Given the description of an element on the screen output the (x, y) to click on. 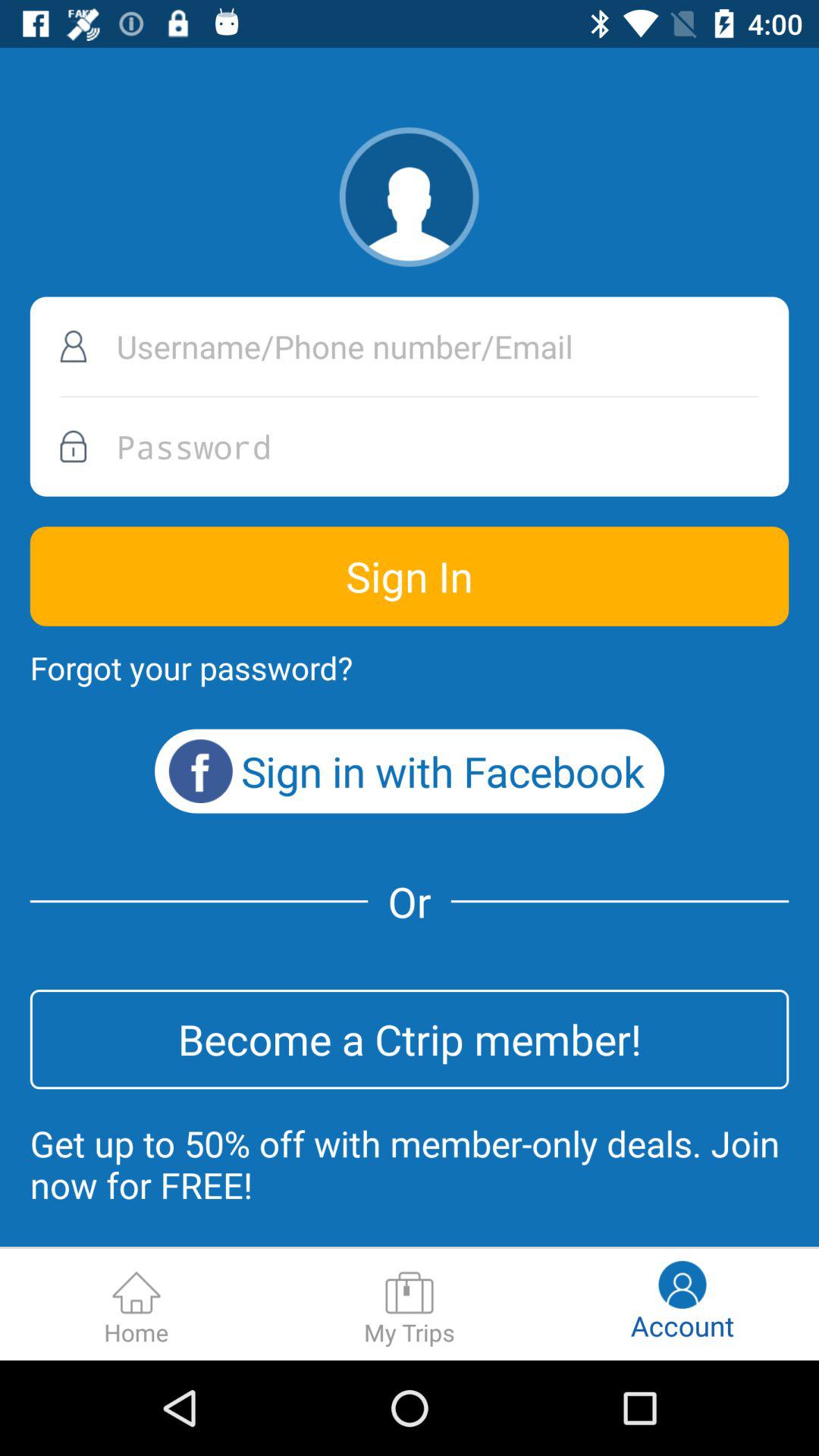
click sign in (409, 576)
click on sign in with facebook (409, 771)
